Given the description of an element on the screen output the (x, y) to click on. 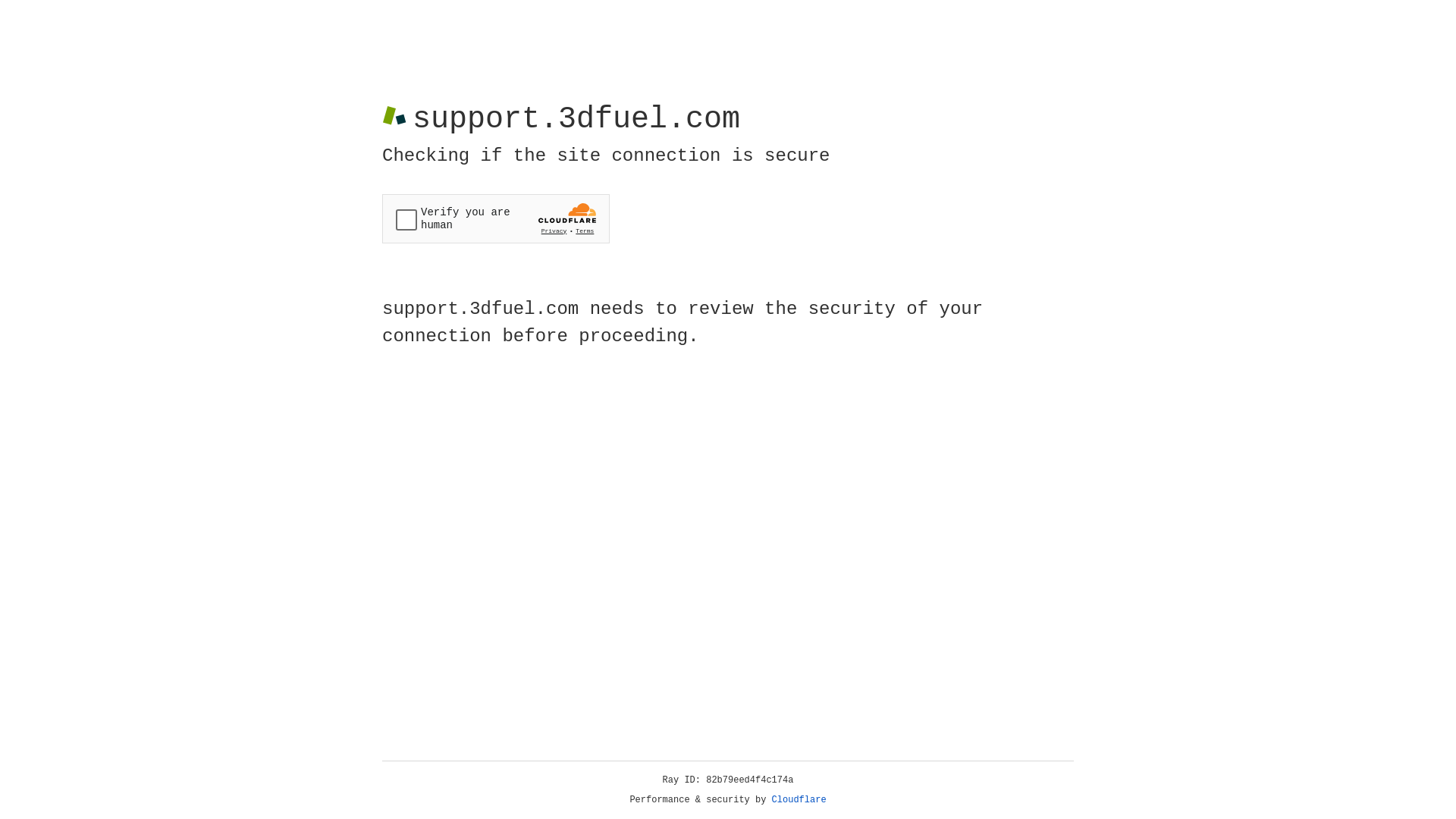
Widget containing a Cloudflare security challenge Element type: hover (495, 218)
Cloudflare Element type: text (798, 799)
